Given the description of an element on the screen output the (x, y) to click on. 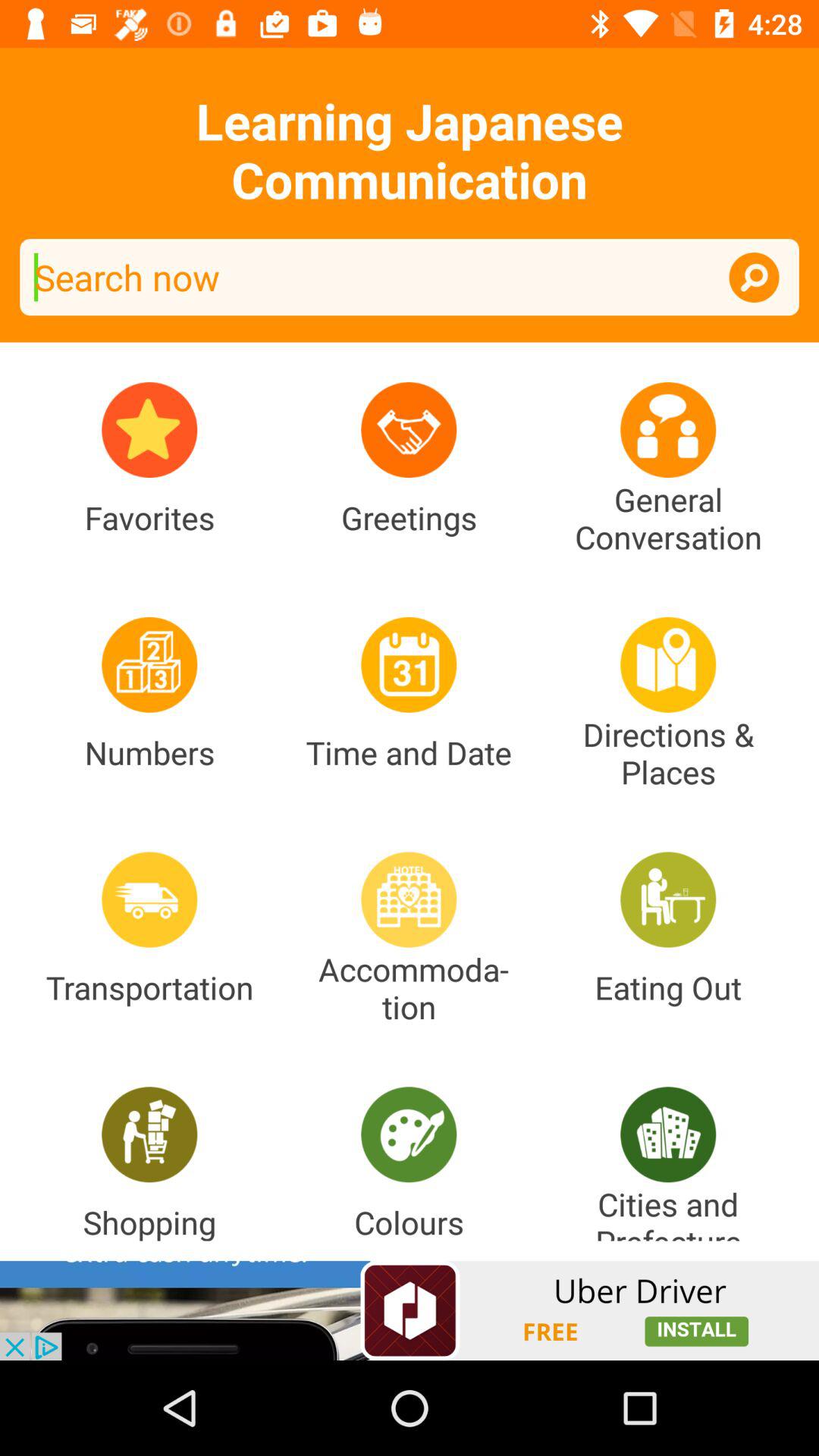
search (409, 276)
